Given the description of an element on the screen output the (x, y) to click on. 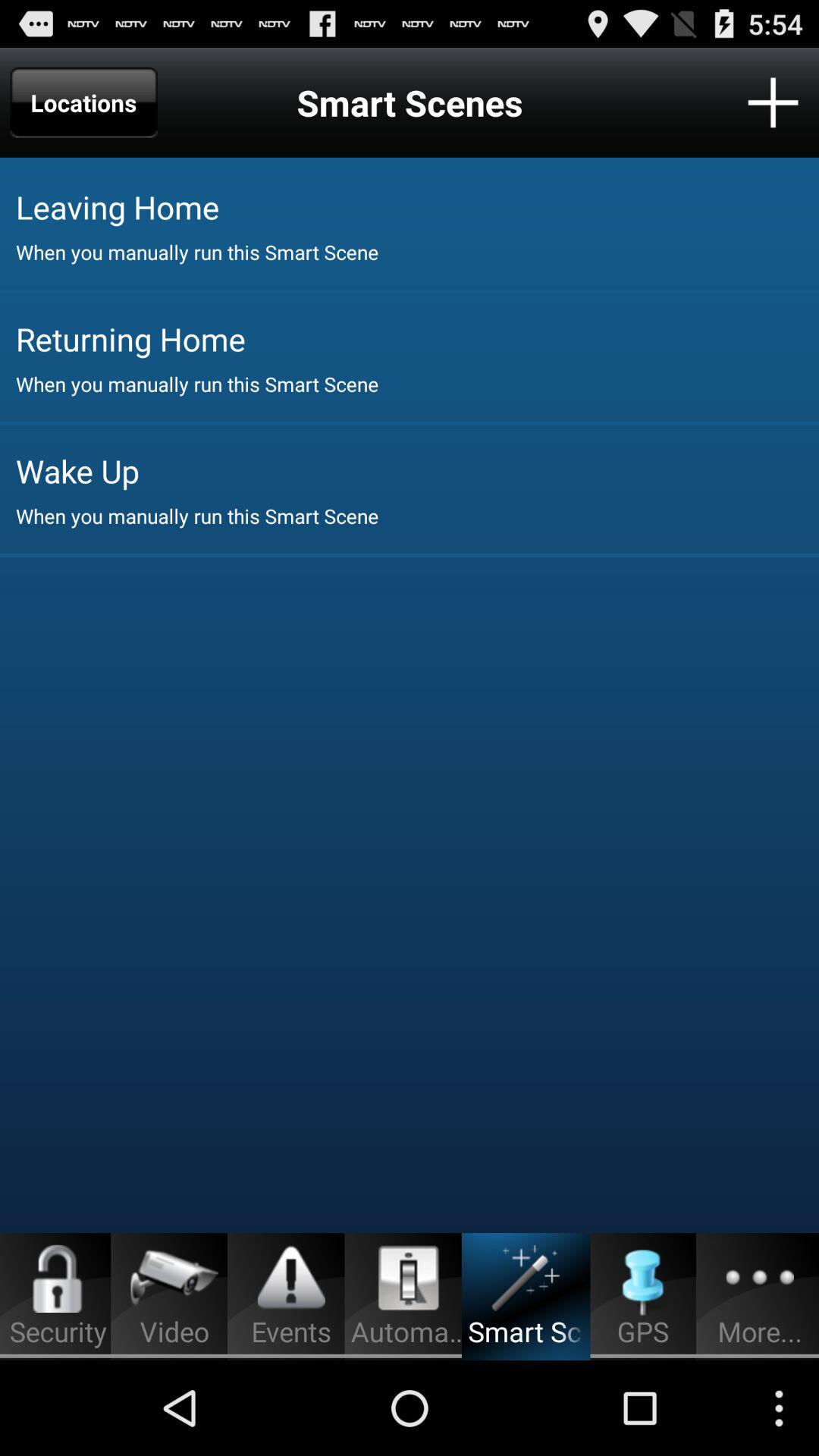
launch the icon at the top left corner (83, 102)
